Given the description of an element on the screen output the (x, y) to click on. 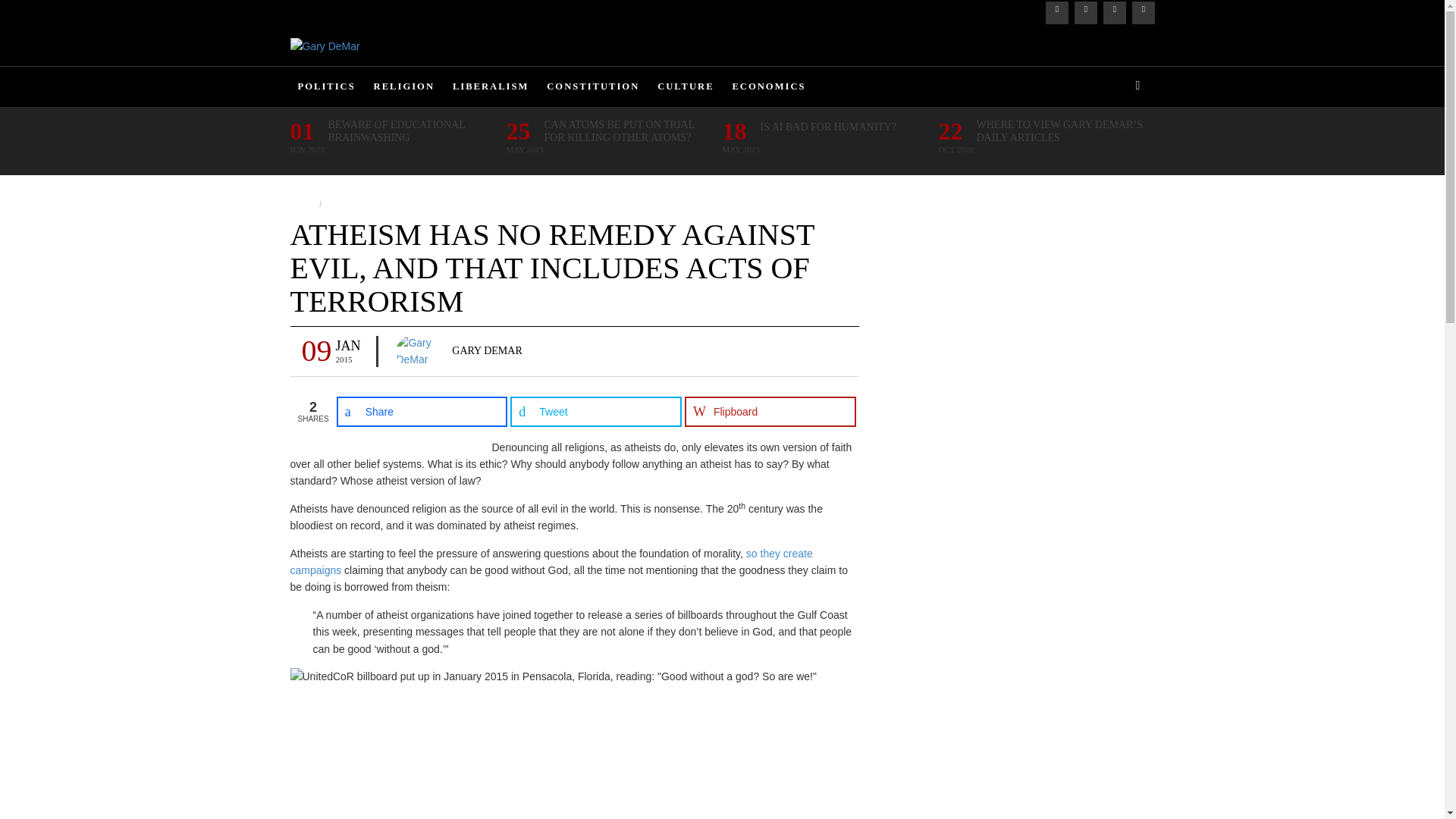
ECONOMICS (767, 86)
RELIGION (404, 86)
View all posts in Religion (347, 204)
Tweet (596, 411)
Youtube (1142, 12)
PRIVACY POLICY (370, 8)
GARY DEMAR (486, 350)
Flipboard (770, 411)
View all posts by Gary DeMar (486, 350)
BEWARE OF EDUCATIONAL BRAINWASHING (411, 130)
HOME (306, 8)
Facebook (1056, 12)
Share on Tweet (596, 411)
Share on Share (422, 411)
IS AI BAD FOR HUMANITY? (828, 126)
